Given the description of an element on the screen output the (x, y) to click on. 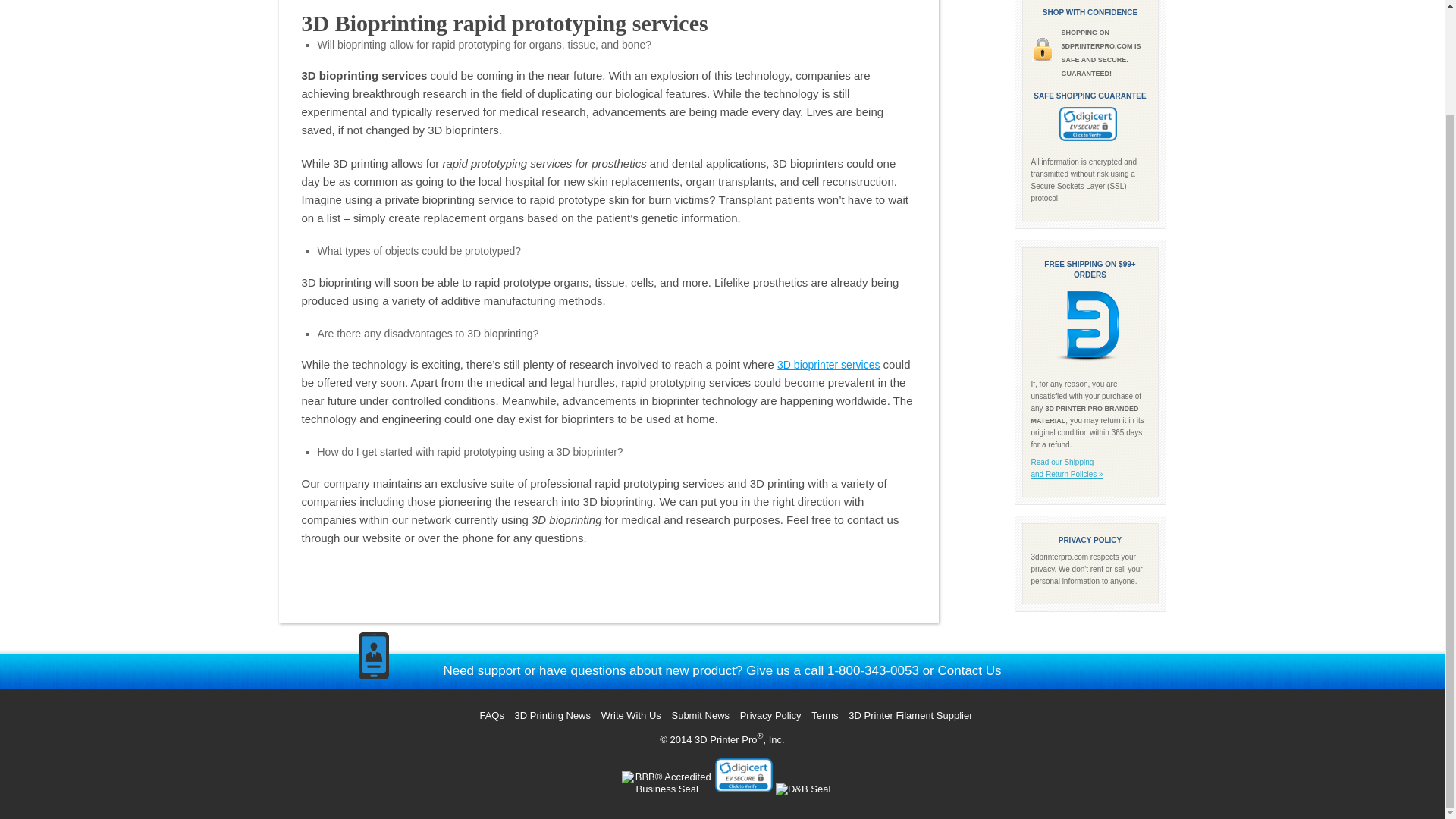
Verified By Digicert (743, 775)
Verified By Digicert (1087, 123)
